Given the description of an element on the screen output the (x, y) to click on. 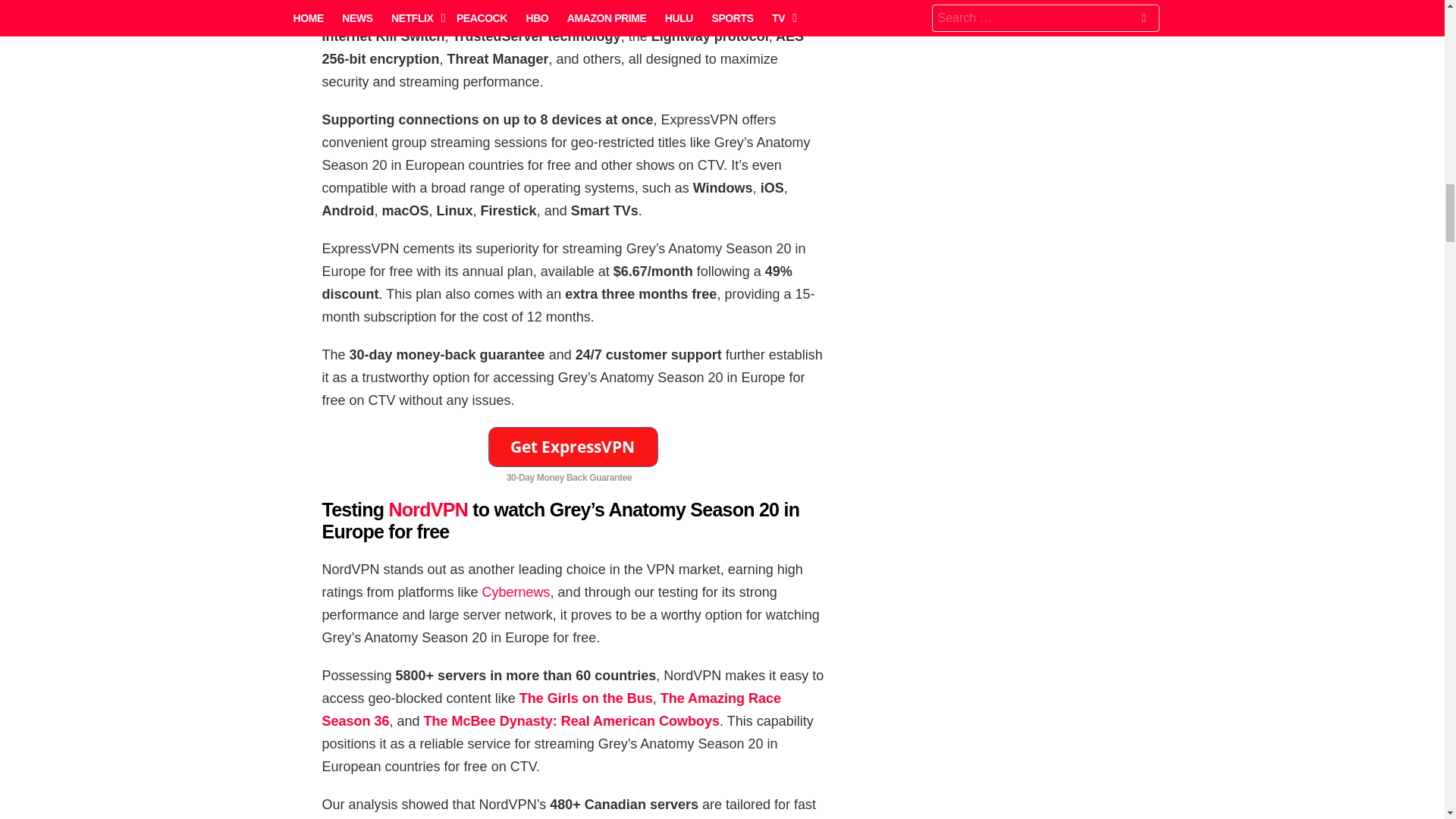
Cybernews (515, 591)
NordVPN (427, 509)
The Amazing Race Season 36 (550, 709)
The Girls on the Bus (585, 698)
